Given the description of an element on the screen output the (x, y) to click on. 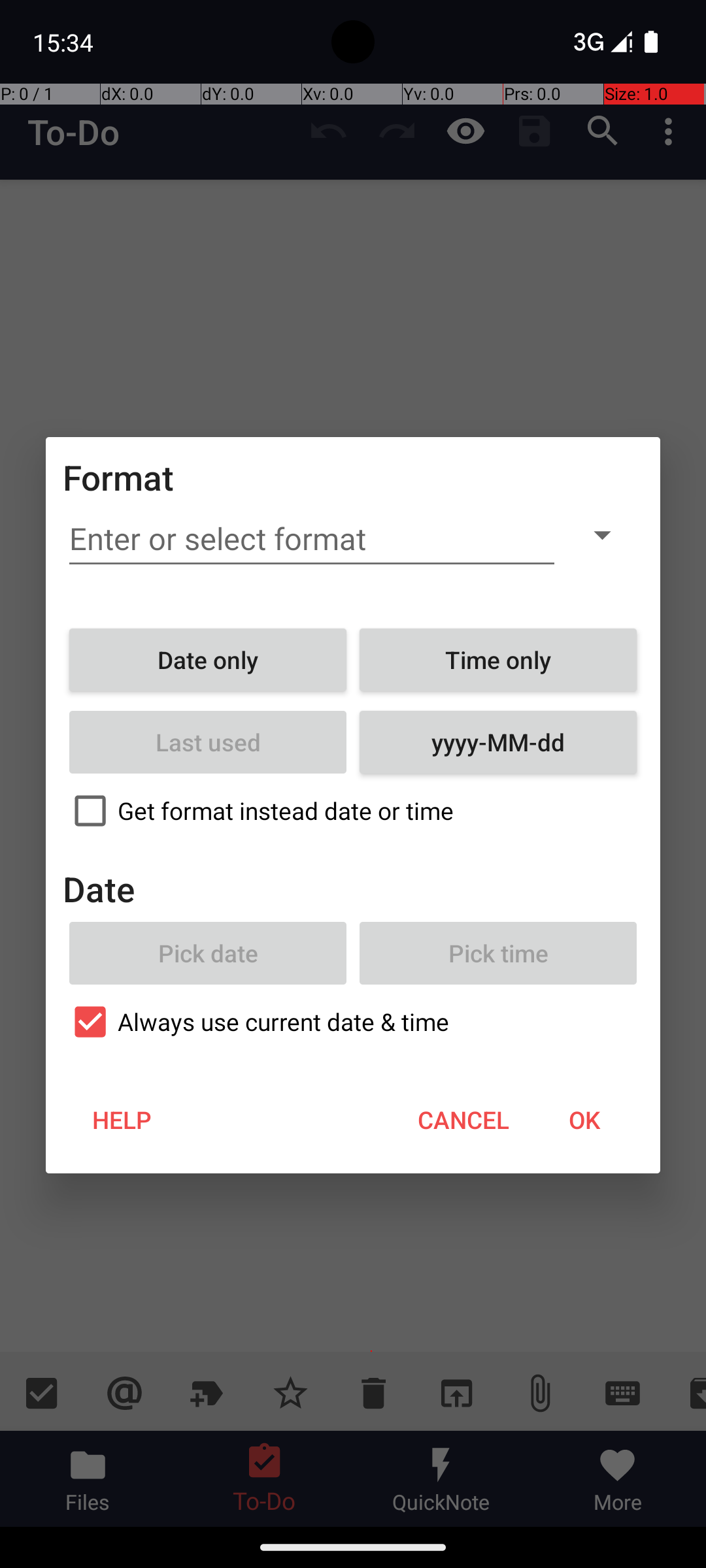
Enter or select format Element type: android.widget.EditText (311, 538)
Date only Element type: android.widget.Button (207, 659)
Time only Element type: android.widget.Button (498, 659)
Last used Element type: android.widget.Button (207, 742)
yyyy-MM-dd Element type: android.widget.Button (498, 742)
Get format instead date or time Element type: android.widget.CheckBox (352, 810)
Pick date Element type: android.widget.Button (207, 953)
Always use current date & time Element type: android.widget.CheckBox (352, 1021)
HELP Element type: android.widget.Button (121, 1119)
